Given the description of an element on the screen output the (x, y) to click on. 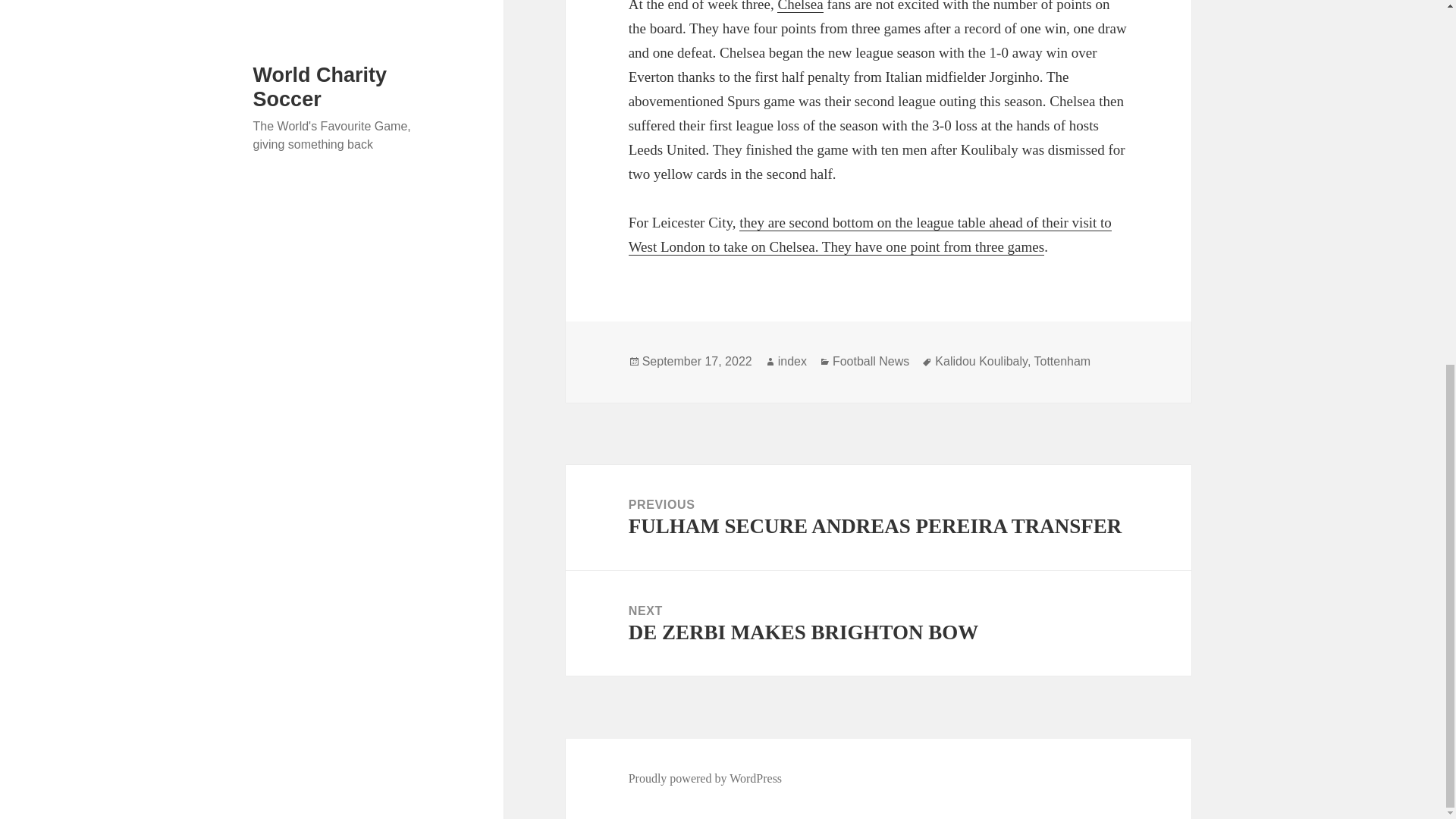
Tottenham (1061, 361)
Chelsea (799, 6)
September 17, 2022 (878, 623)
Football News (697, 361)
Proudly powered by WordPress (870, 361)
index (704, 778)
Kalidou Koulibaly (791, 361)
